Given the description of an element on the screen output the (x, y) to click on. 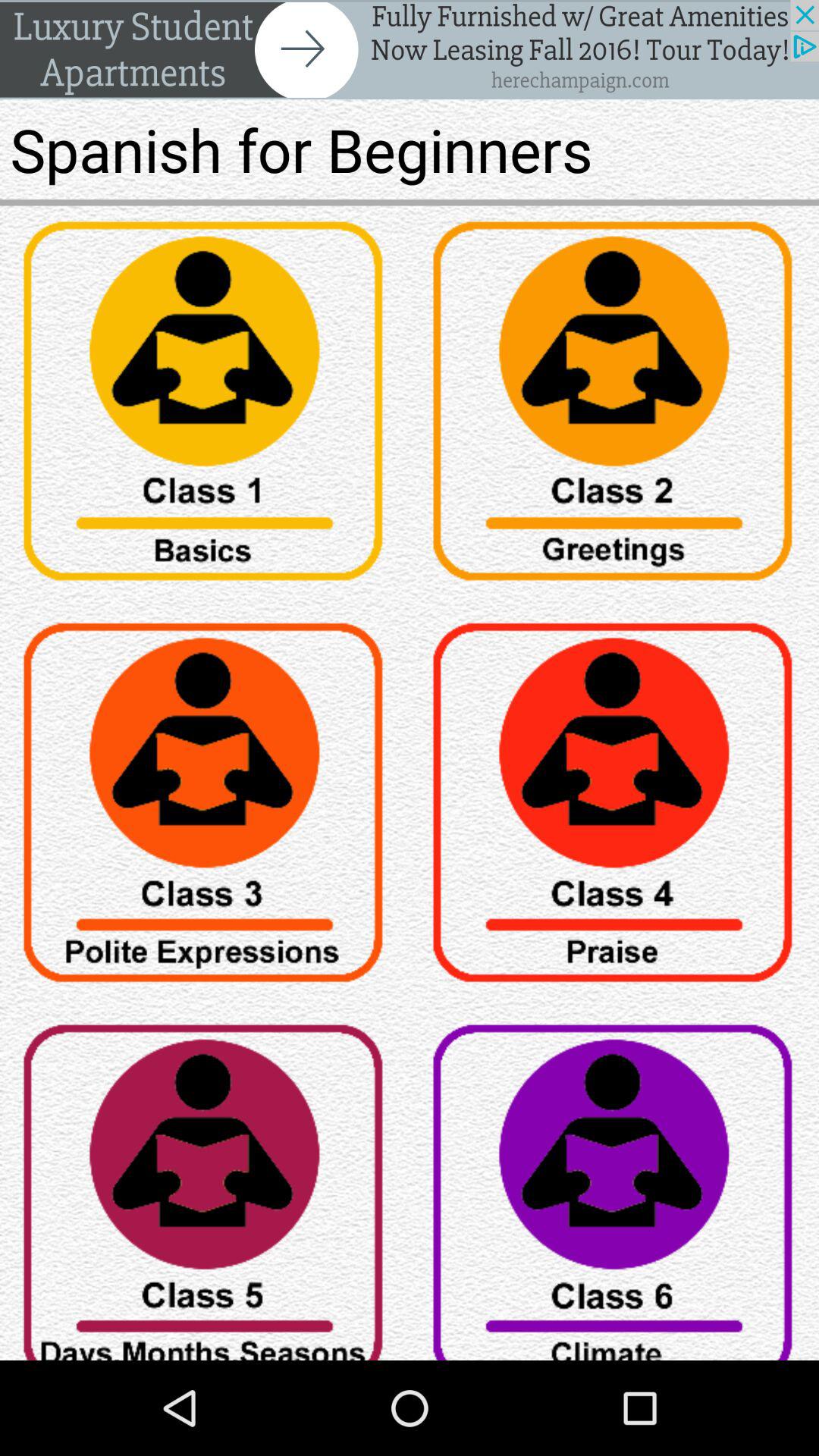
advert banner (409, 49)
